Given the description of an element on the screen output the (x, y) to click on. 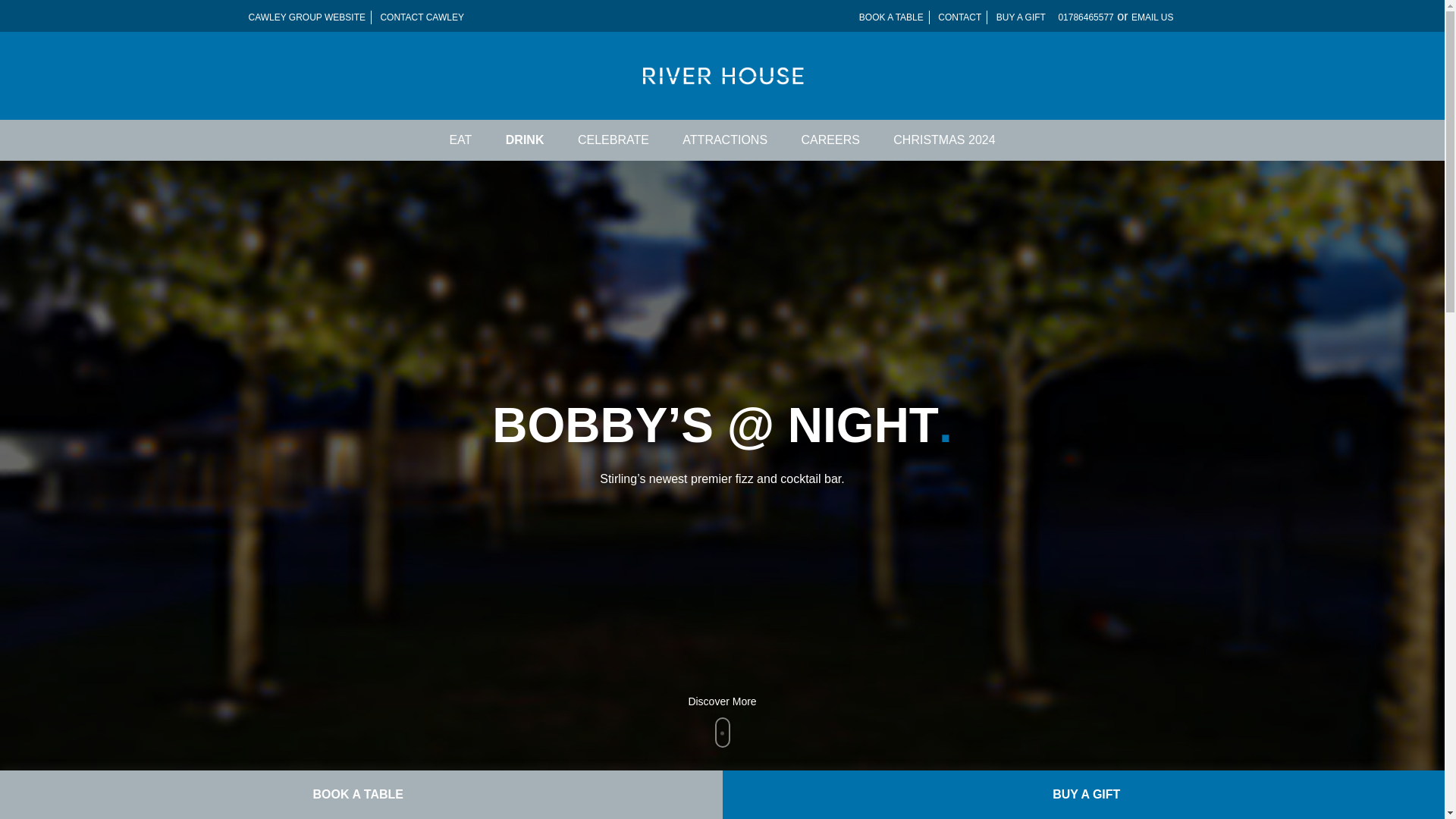
DRINK (524, 139)
CAWLEY GROUP WEBSITE (307, 17)
BOOK A TABLE (358, 794)
EMAIL US (1152, 17)
EAT (459, 139)
01786465577 (1085, 17)
ATTRACTIONS (724, 139)
CONTACT (960, 17)
CELEBRATE (612, 139)
BUY A GIFT (1021, 17)
CONTACT CAWLEY (421, 17)
BOOK A TABLE (891, 17)
CAREERS (830, 139)
CHRISTMAS 2024 (943, 139)
